Given the description of an element on the screen output the (x, y) to click on. 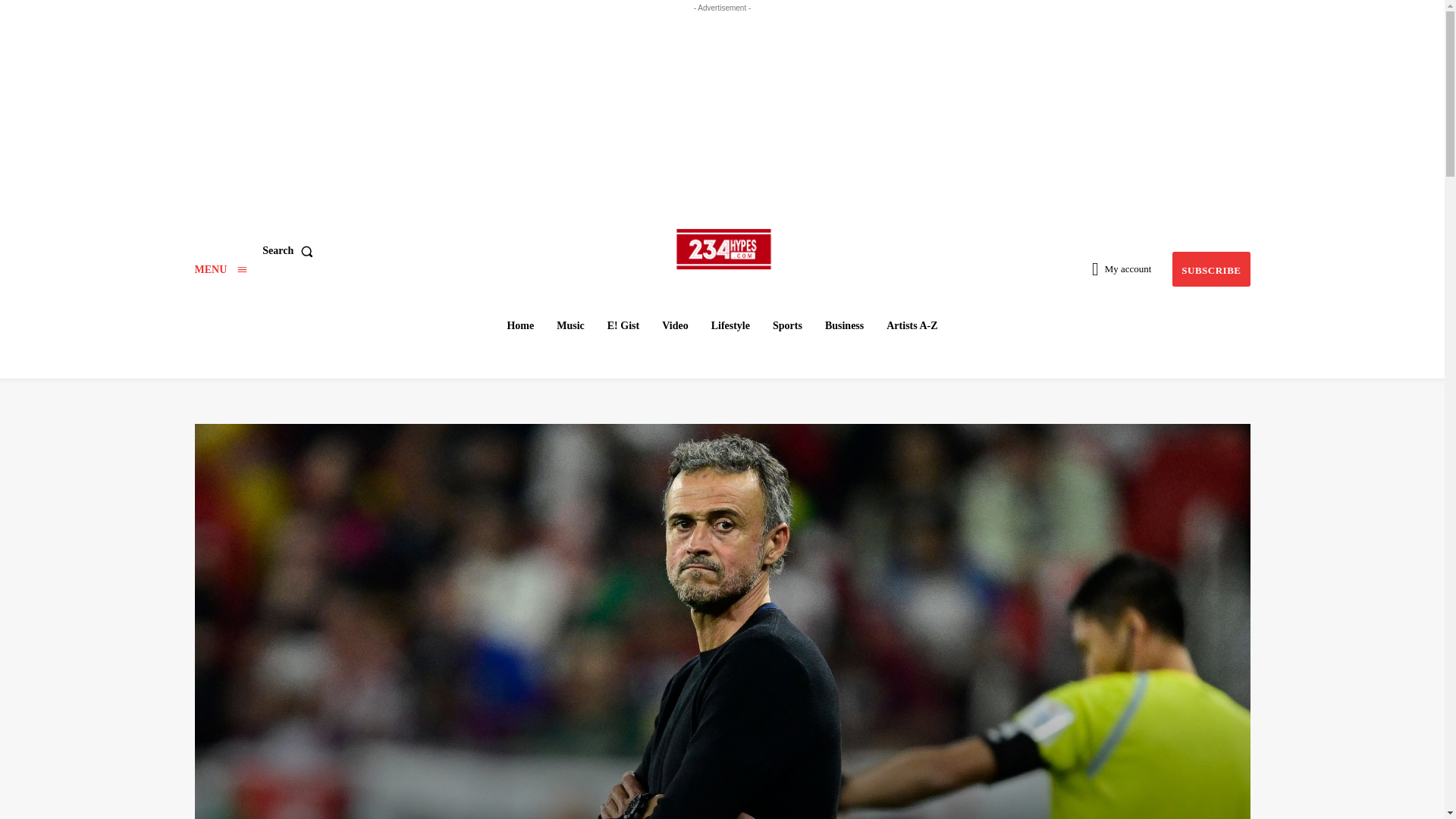
Business (843, 326)
Artists A-Z (911, 326)
Subscribe (1210, 269)
Menu (220, 269)
MENU (220, 269)
Music (570, 326)
Lifestyle (730, 326)
Sports (787, 326)
Video (674, 326)
